Given the description of an element on the screen output the (x, y) to click on. 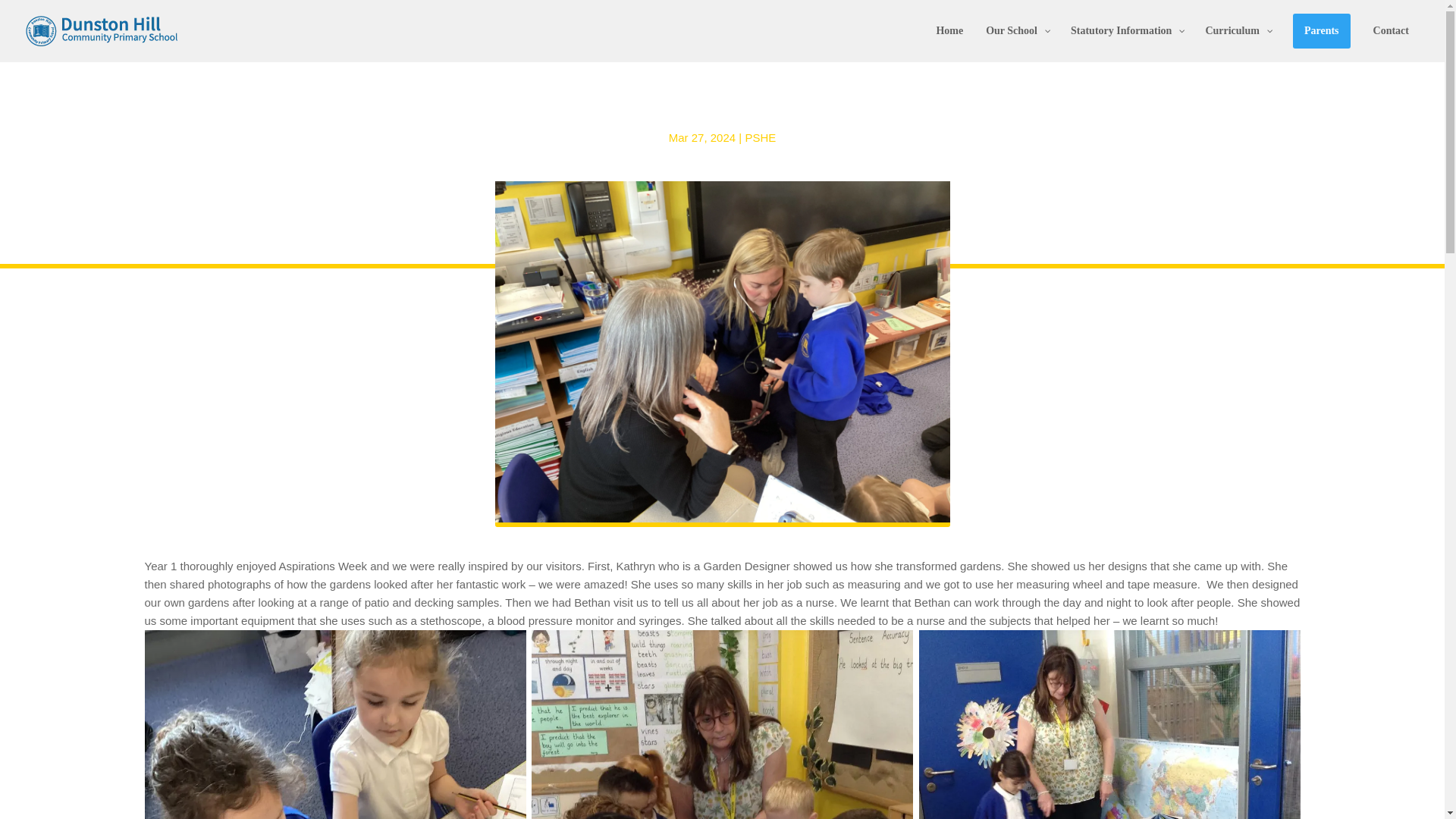
Curriculum (1237, 43)
Statutory Information (1126, 43)
Parents (1321, 43)
Our School (1016, 43)
Home (949, 43)
Contact (1391, 43)
